Given the description of an element on the screen output the (x, y) to click on. 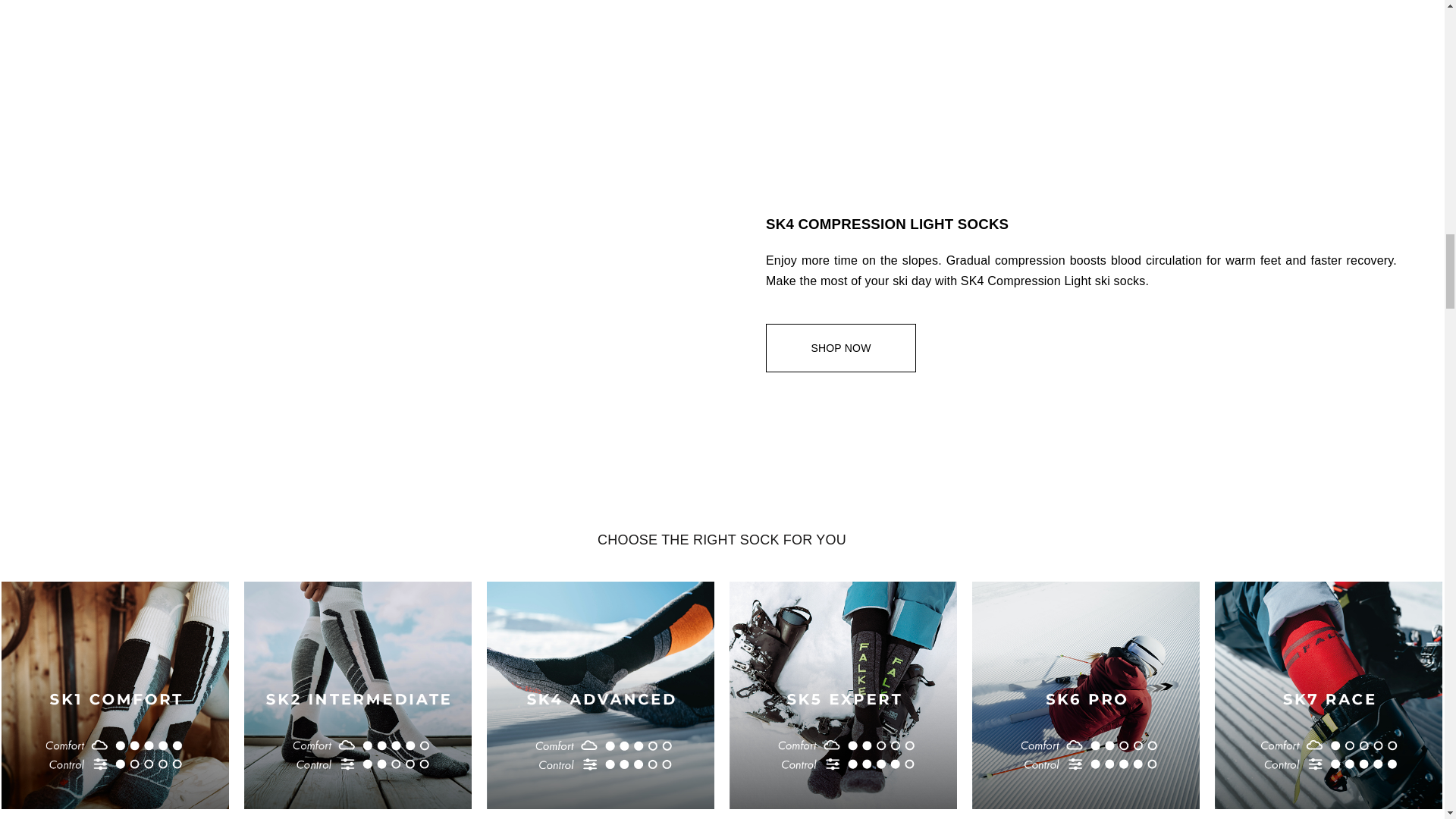
SHOP NOW (840, 347)
